Given the description of an element on the screen output the (x, y) to click on. 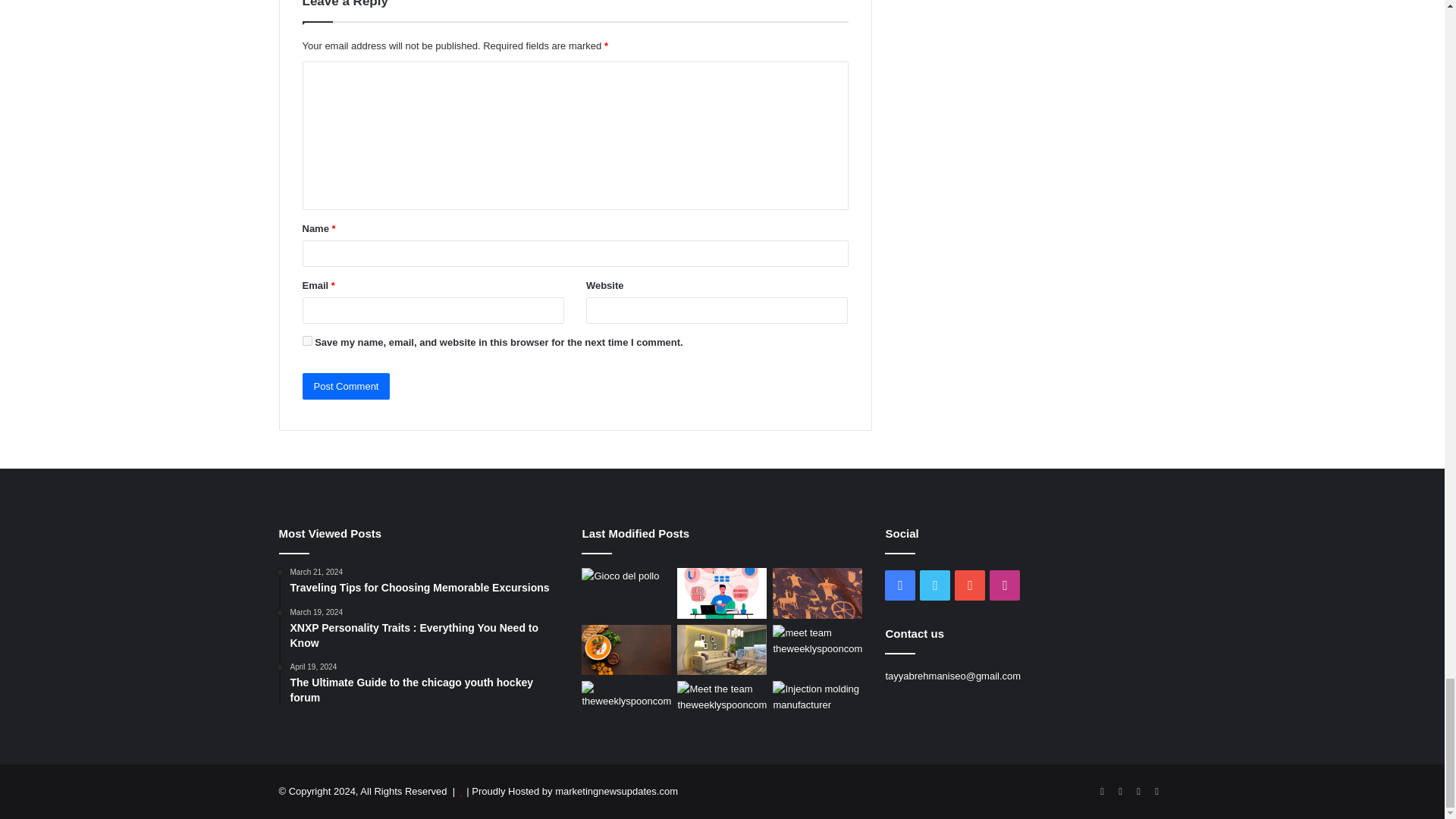
Post Comment (345, 386)
yes (306, 340)
